Given the description of an element on the screen output the (x, y) to click on. 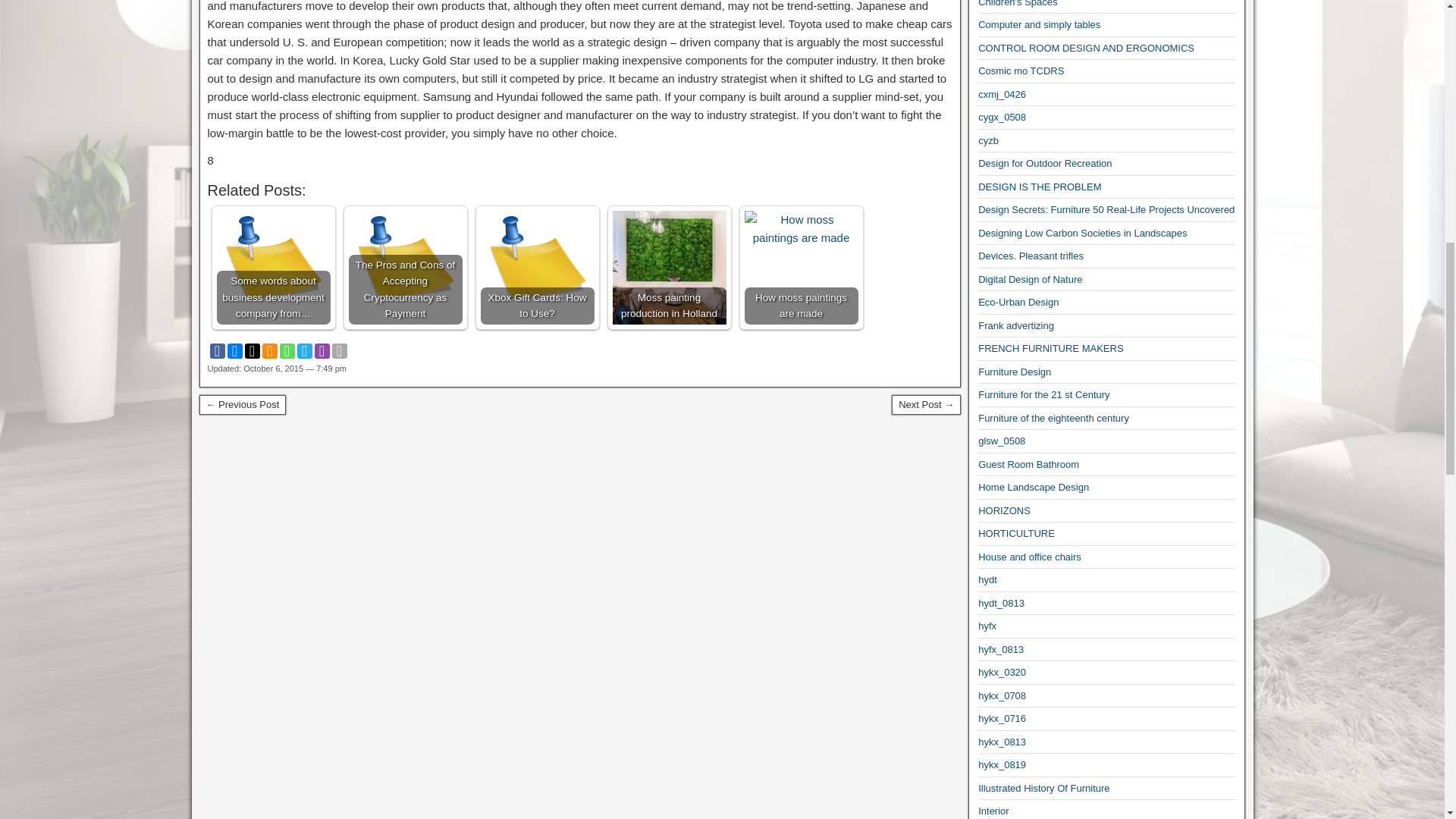
Xbox Gift Cards: How to Use? (537, 267)
Moss painting production in Holland (669, 267)
CONTROL ROOM DESIGN AND ERGONOMICS (1085, 48)
How moss paintings are made (801, 228)
How moss paintings are made (801, 267)
Xbox Gift Cards: How to Use? (537, 267)
Cosmic mo TCDRS (1021, 70)
Furniture Attributed to Dickinson (925, 404)
Moss painting production in Holland (669, 267)
